Given the description of an element on the screen output the (x, y) to click on. 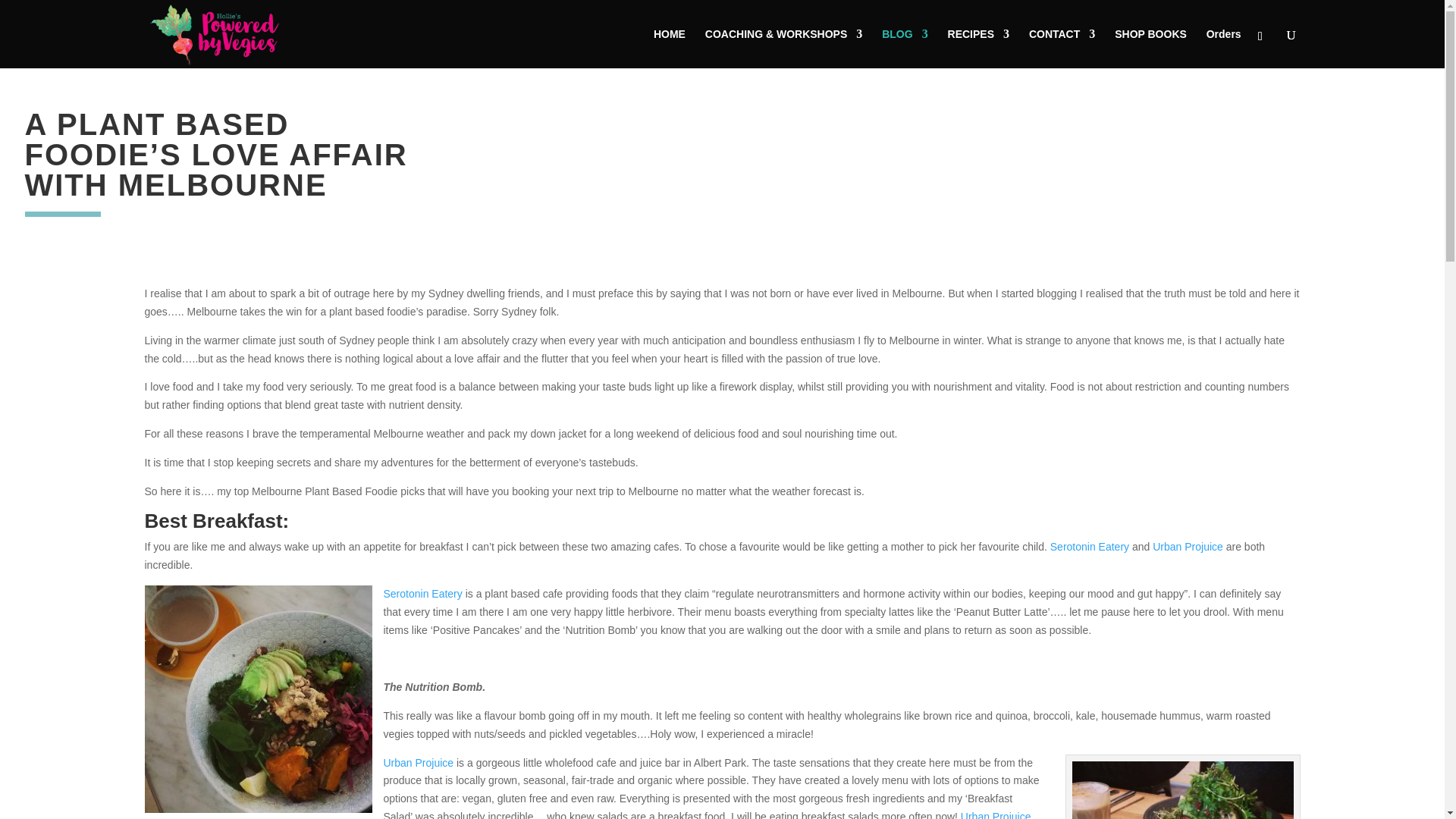
BLOG (904, 47)
RECIPES (978, 47)
